Given the description of an element on the screen output the (x, y) to click on. 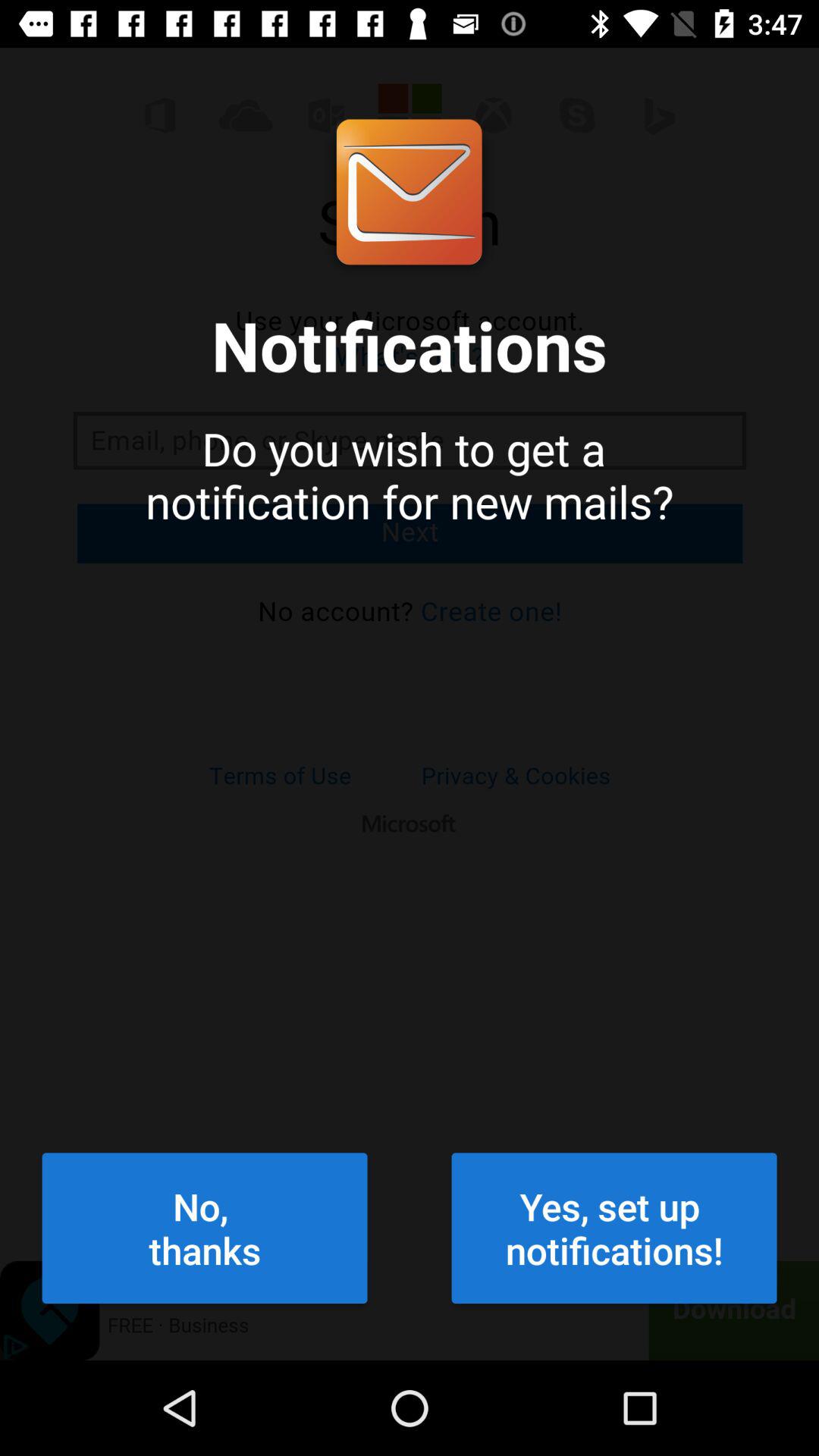
choose item below do you wish app (613, 1227)
